Given the description of an element on the screen output the (x, y) to click on. 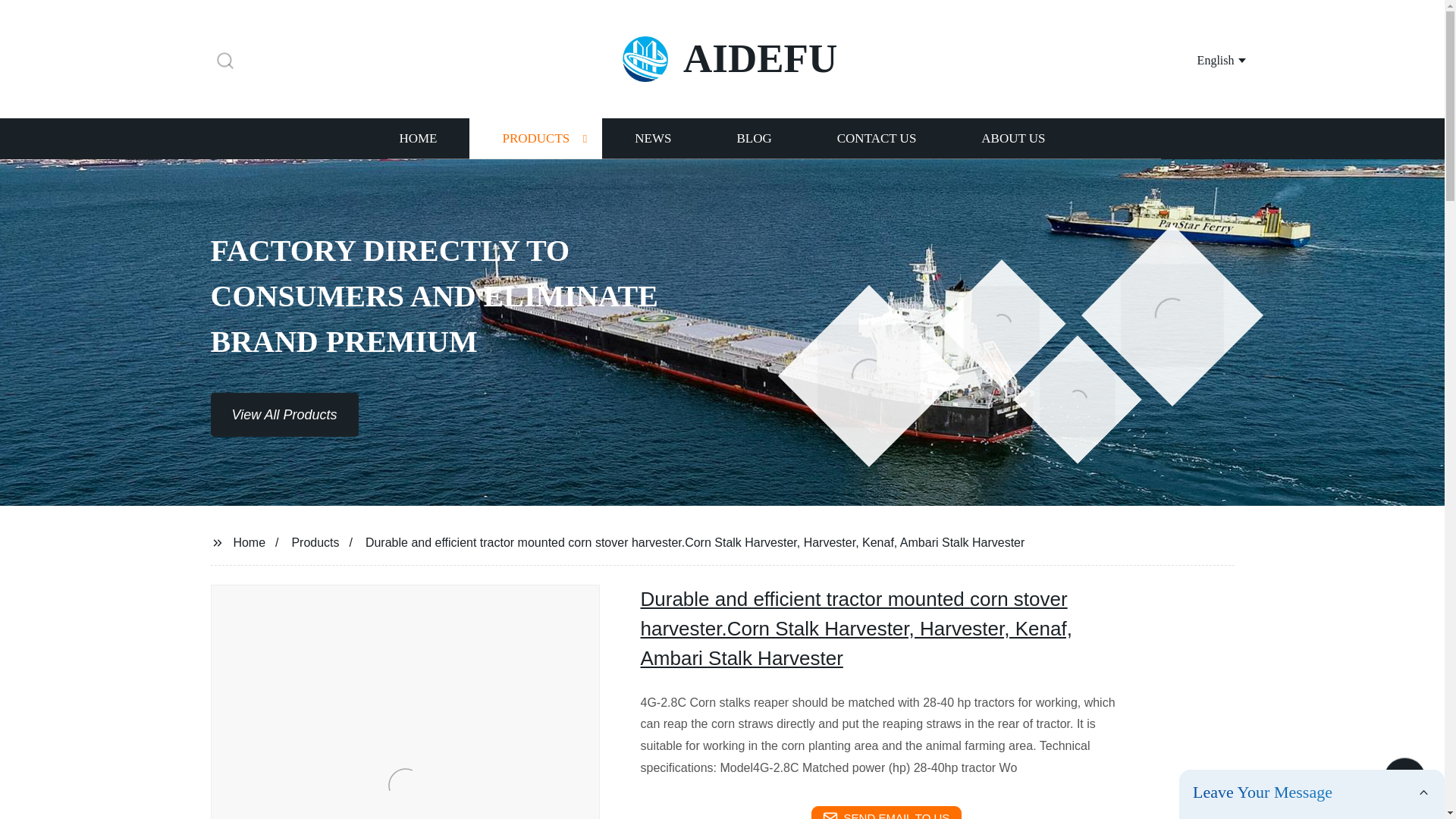
ABOUT US (1013, 137)
CONTACT US (877, 137)
BLOG (753, 137)
English (1203, 59)
SEND EMAIL TO US (885, 812)
Products (315, 541)
Top (1404, 775)
HOME (417, 137)
Home (248, 541)
NEWS (652, 137)
